Given the description of an element on the screen output the (x, y) to click on. 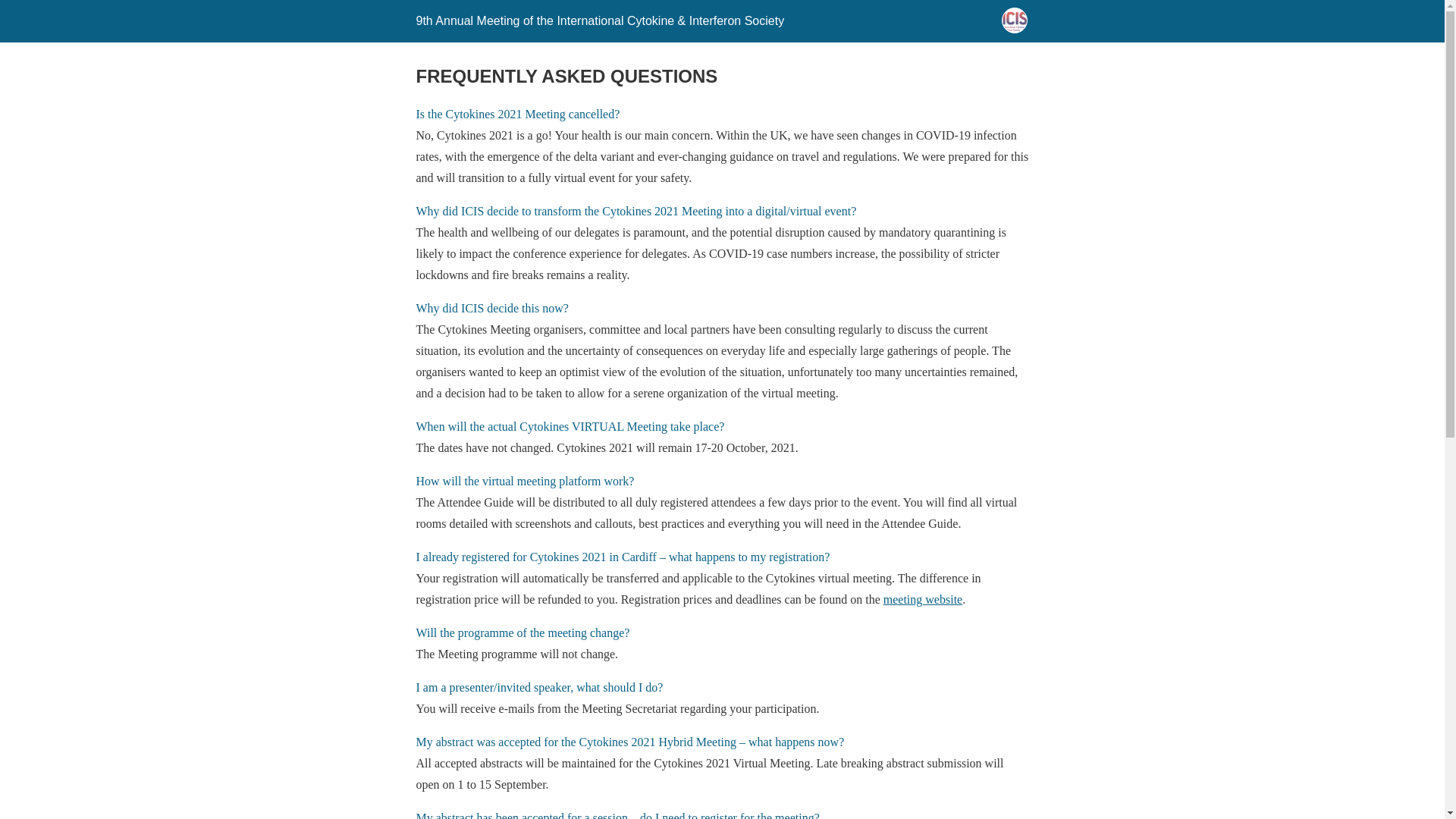
When will the actual Cytokines VIRTUAL Meeting take place? (568, 426)
Is the Cytokines 2021 Meeting cancelled? (517, 113)
Why did ICIS decide this now? (490, 308)
How will the virtual meeting platform work? (523, 481)
meeting website (922, 599)
Will the programme of the meeting change? (521, 632)
